Given the description of an element on the screen output the (x, y) to click on. 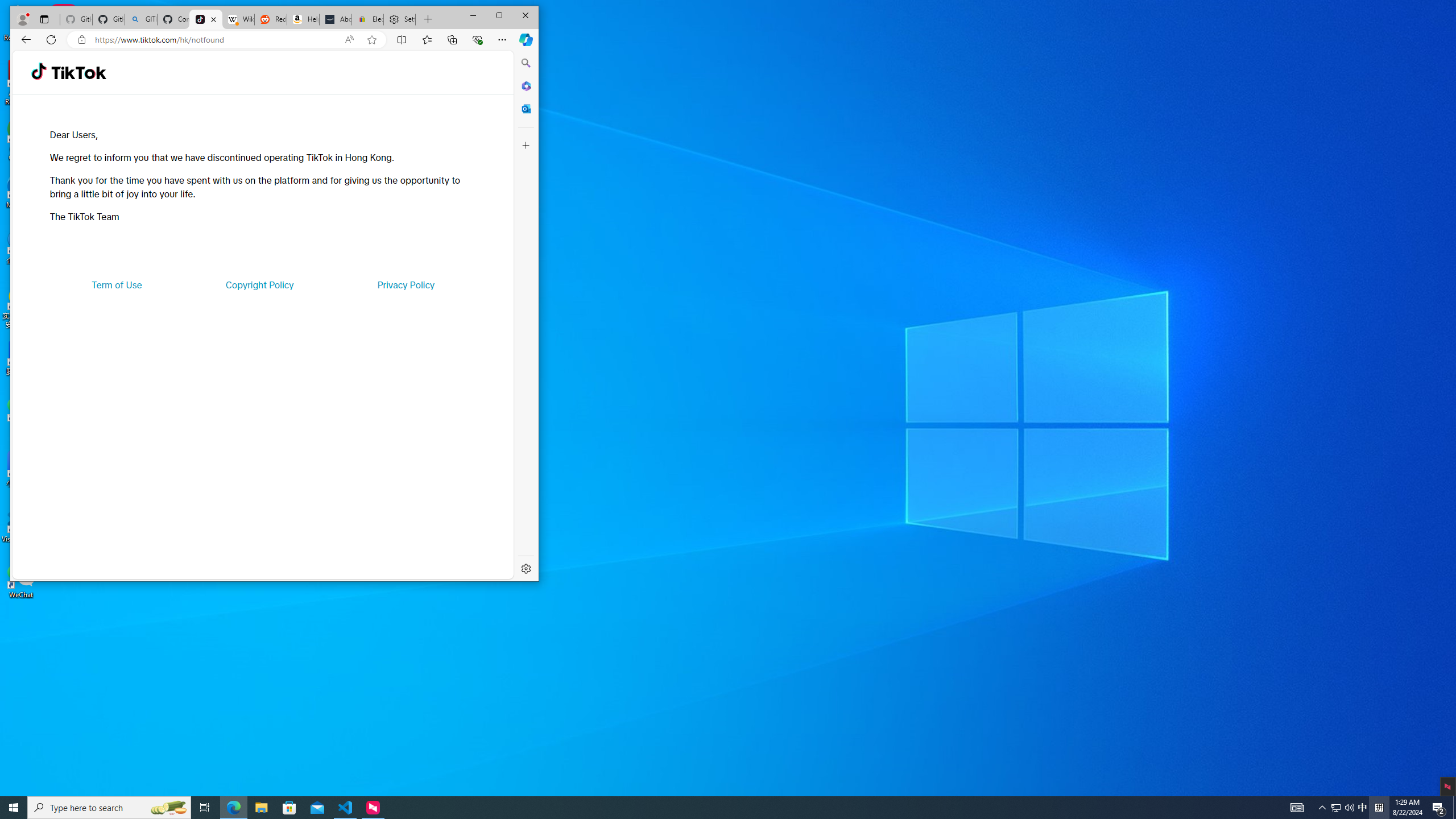
Notification Chevron (1322, 807)
Privacy Policy (405, 284)
Wikipedia, the free encyclopedia (237, 19)
Visual Studio Code - 1 running window (345, 807)
Copyright Policy (259, 284)
